Given the description of an element on the screen output the (x, y) to click on. 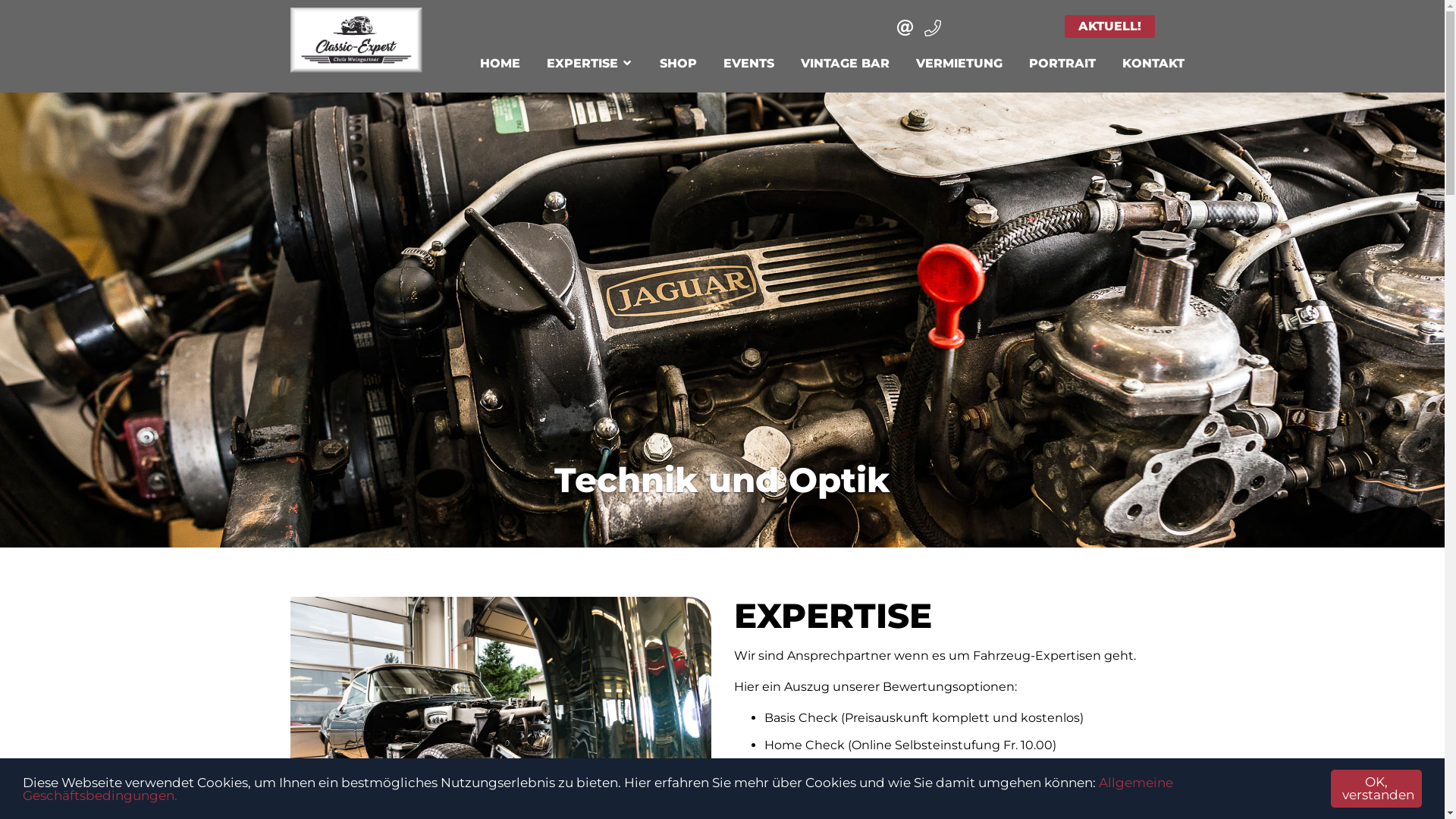
VINTAGE BAR Element type: text (844, 62)
EXPERTISE Element type: text (589, 60)
KONTAKT Element type: text (1152, 62)
PORTRAIT Element type: text (1062, 62)
AKTUELL! Element type: text (1109, 26)
HOME Element type: text (499, 62)
VERMIETUNG Element type: text (958, 62)
OK, verstanden Element type: text (1375, 788)
EVENTS Element type: text (747, 62)
SHOP Element type: text (677, 62)
